Given the description of an element on the screen output the (x, y) to click on. 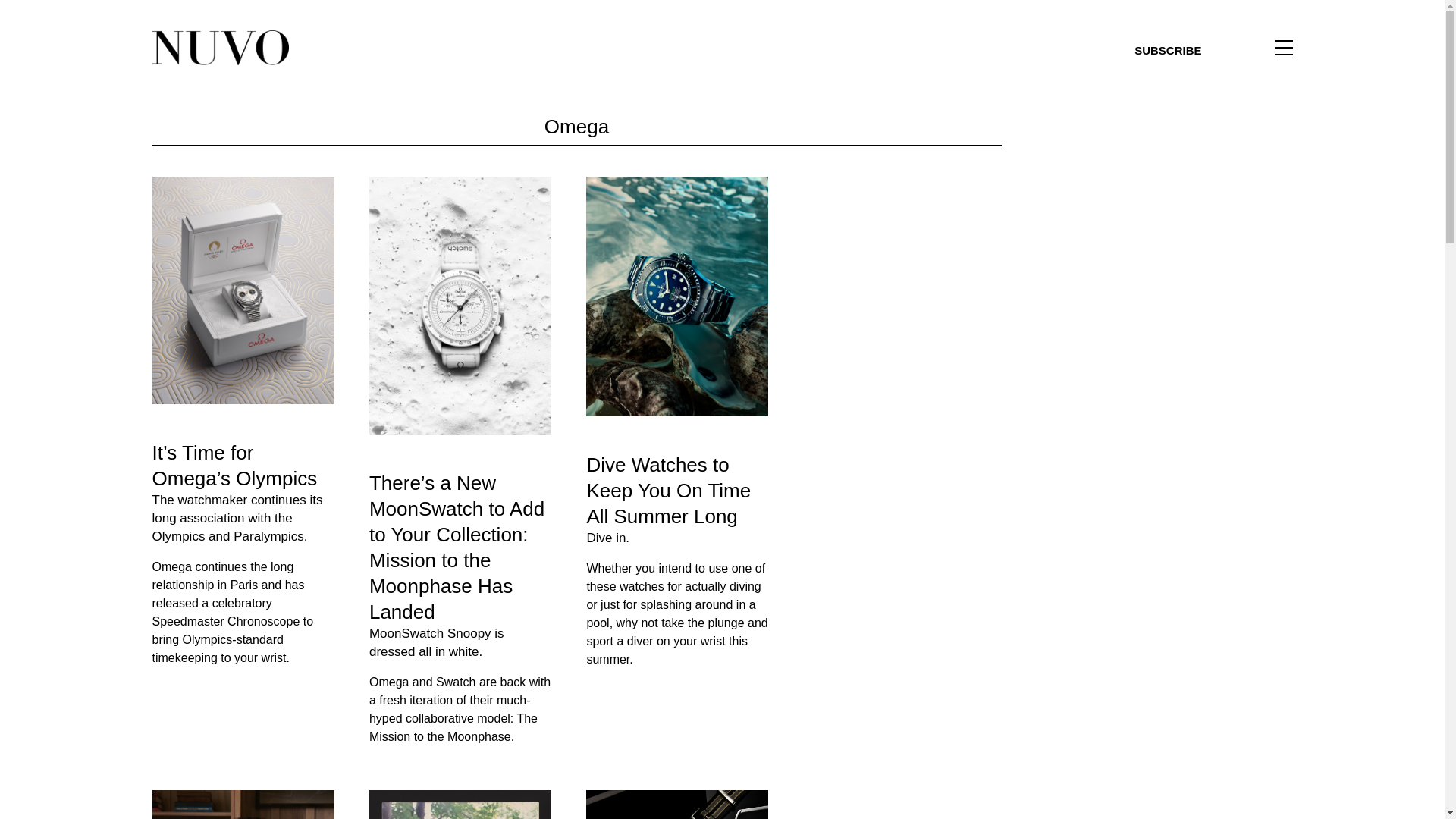
SUBSCRIBE (1167, 50)
